Given the description of an element on the screen output the (x, y) to click on. 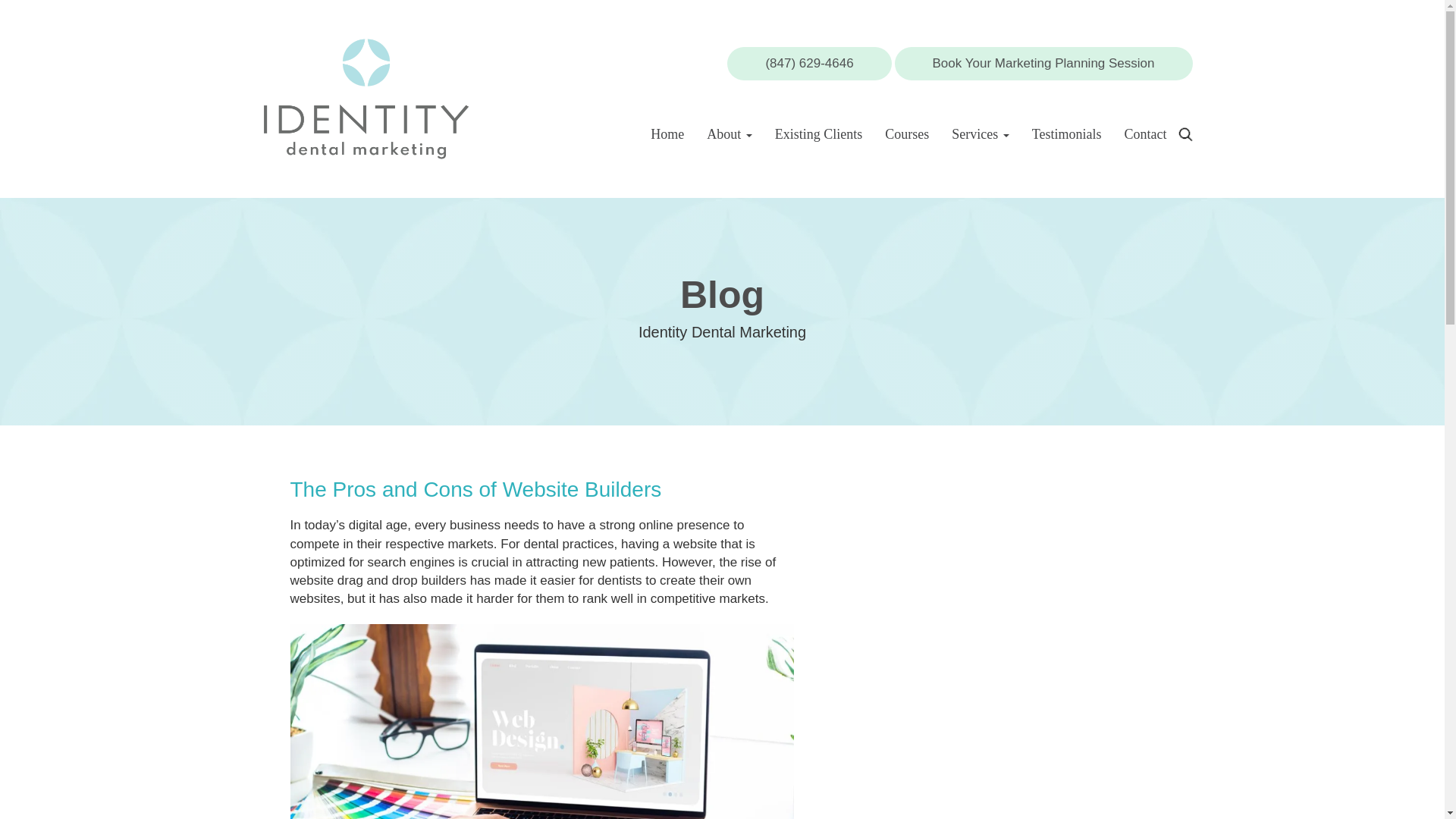
Home (667, 133)
Book Your Marketing Planning Session (1043, 63)
Dental Marketing (365, 97)
About (729, 133)
